Given the description of an element on the screen output the (x, y) to click on. 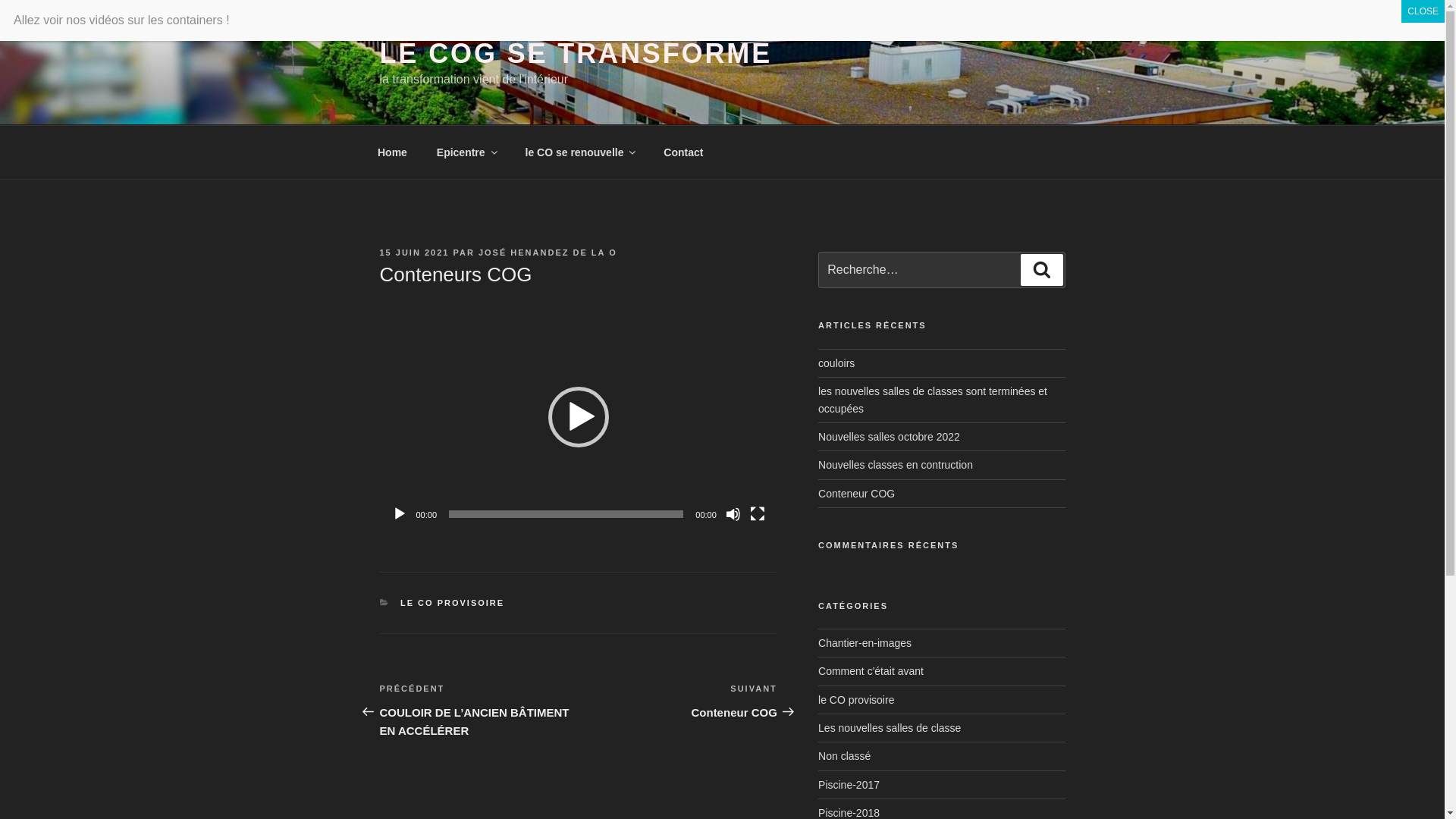
Contact Element type: text (683, 151)
le CO provisoire Element type: text (856, 699)
Home Element type: text (392, 151)
Nouvelles salles octobre 2022 Element type: text (889, 436)
15 JUIN 2021 Element type: text (413, 252)
LE CO PROVISOIRE Element type: text (452, 602)
Muet Element type: hover (732, 513)
Article suivant
SUIVANT
Conteneur COG Element type: text (677, 700)
Piscine-2017 Element type: text (848, 784)
Conteneur COG Element type: text (856, 493)
CLOSE Element type: text (1422, 11)
le CO se renouvelle Element type: text (579, 151)
Nouvelles classes en contruction Element type: text (895, 464)
Recherche Element type: text (1041, 269)
couloirs Element type: text (836, 363)
Lecture Element type: hover (398, 513)
Epicentre Element type: text (465, 151)
Chantier-en-images Element type: text (864, 643)
LE COG SE TRANSFORME Element type: text (575, 53)
Les nouvelles salles de classe Element type: text (889, 727)
